Given the description of an element on the screen output the (x, y) to click on. 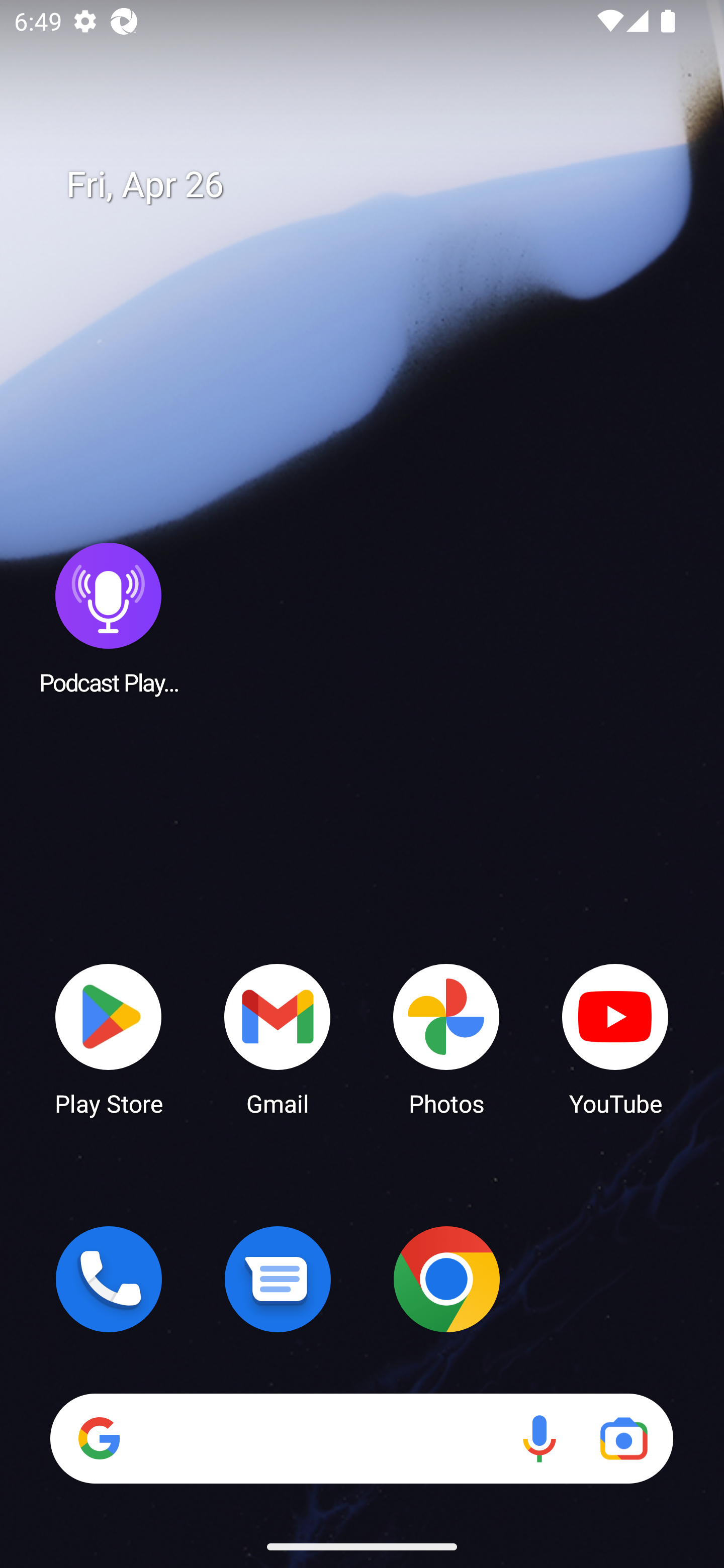
Fri, Apr 26 (375, 184)
Podcast Player (108, 617)
Play Store (108, 1038)
Gmail (277, 1038)
Photos (445, 1038)
YouTube (615, 1038)
Phone (108, 1279)
Messages (277, 1279)
Chrome (446, 1279)
Search Voice search Google Lens (361, 1438)
Voice search (539, 1438)
Google Lens (623, 1438)
